Given the description of an element on the screen output the (x, y) to click on. 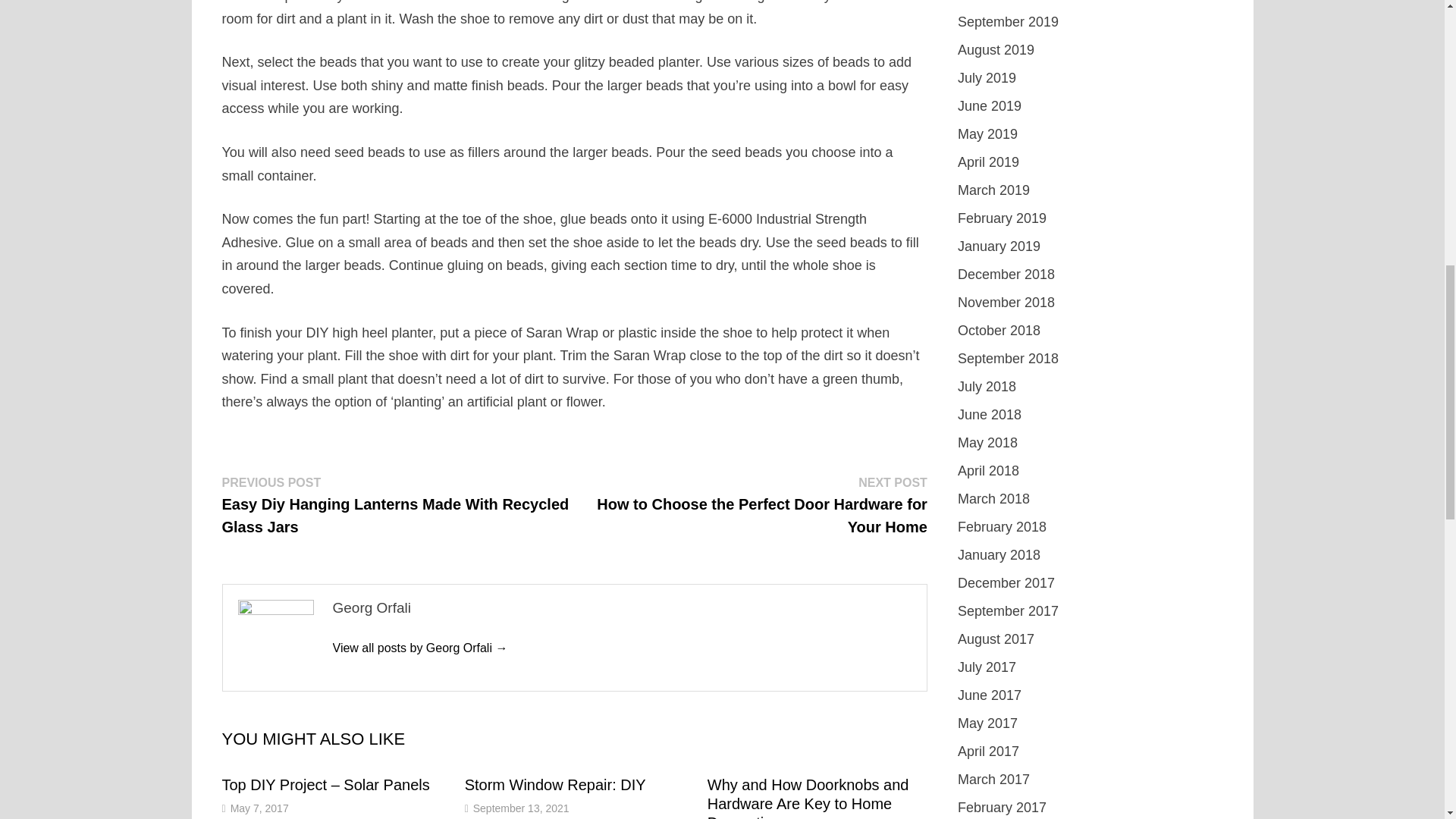
Georg Orfali (418, 647)
September 13, 2021 (521, 808)
Storm Window Repair: DIY (555, 784)
May 7, 2017 (259, 808)
Storm Window Repair: DIY (555, 784)
